Given the description of an element on the screen output the (x, y) to click on. 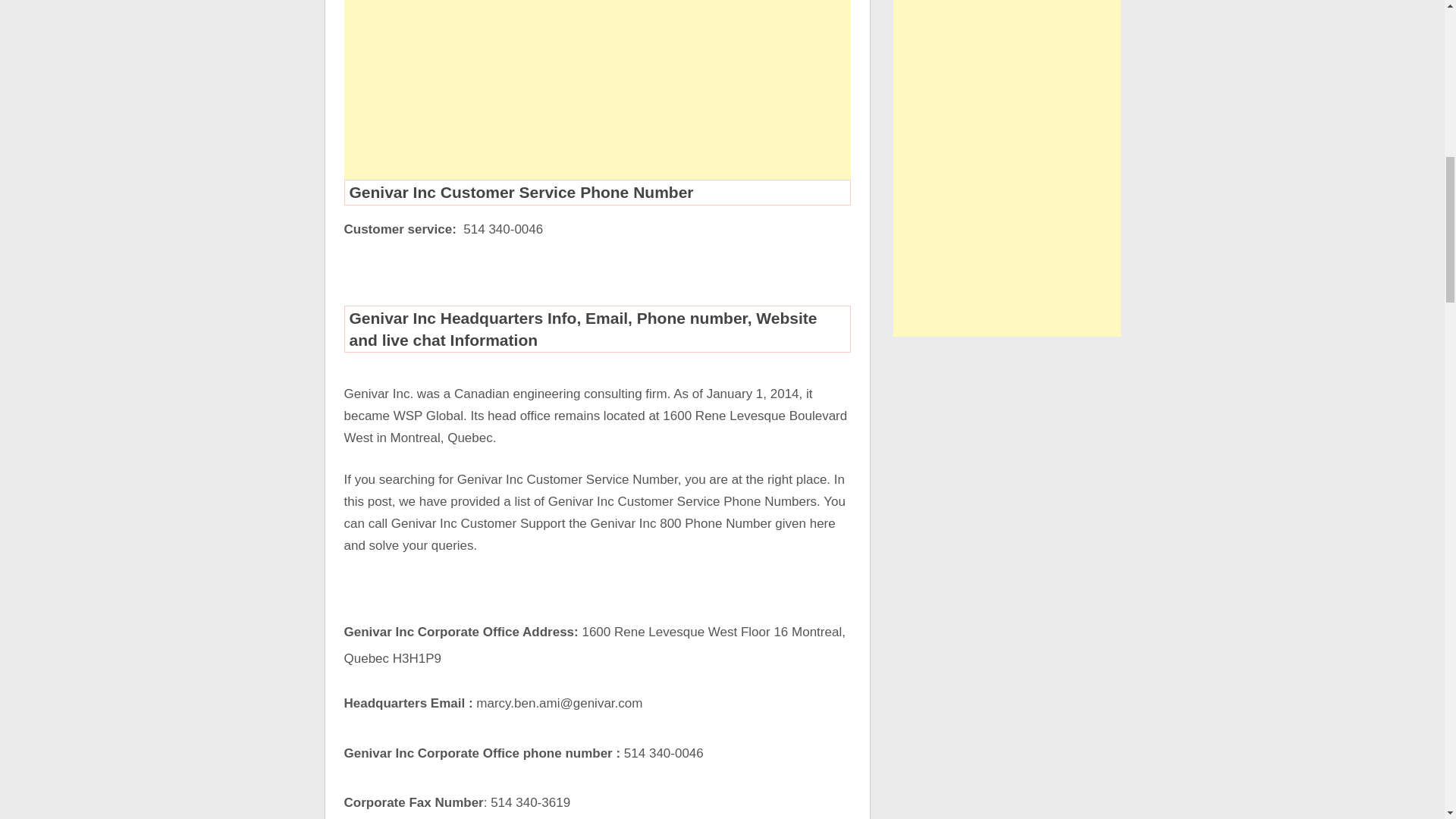
Advertisement (596, 89)
